Given the description of an element on the screen output the (x, y) to click on. 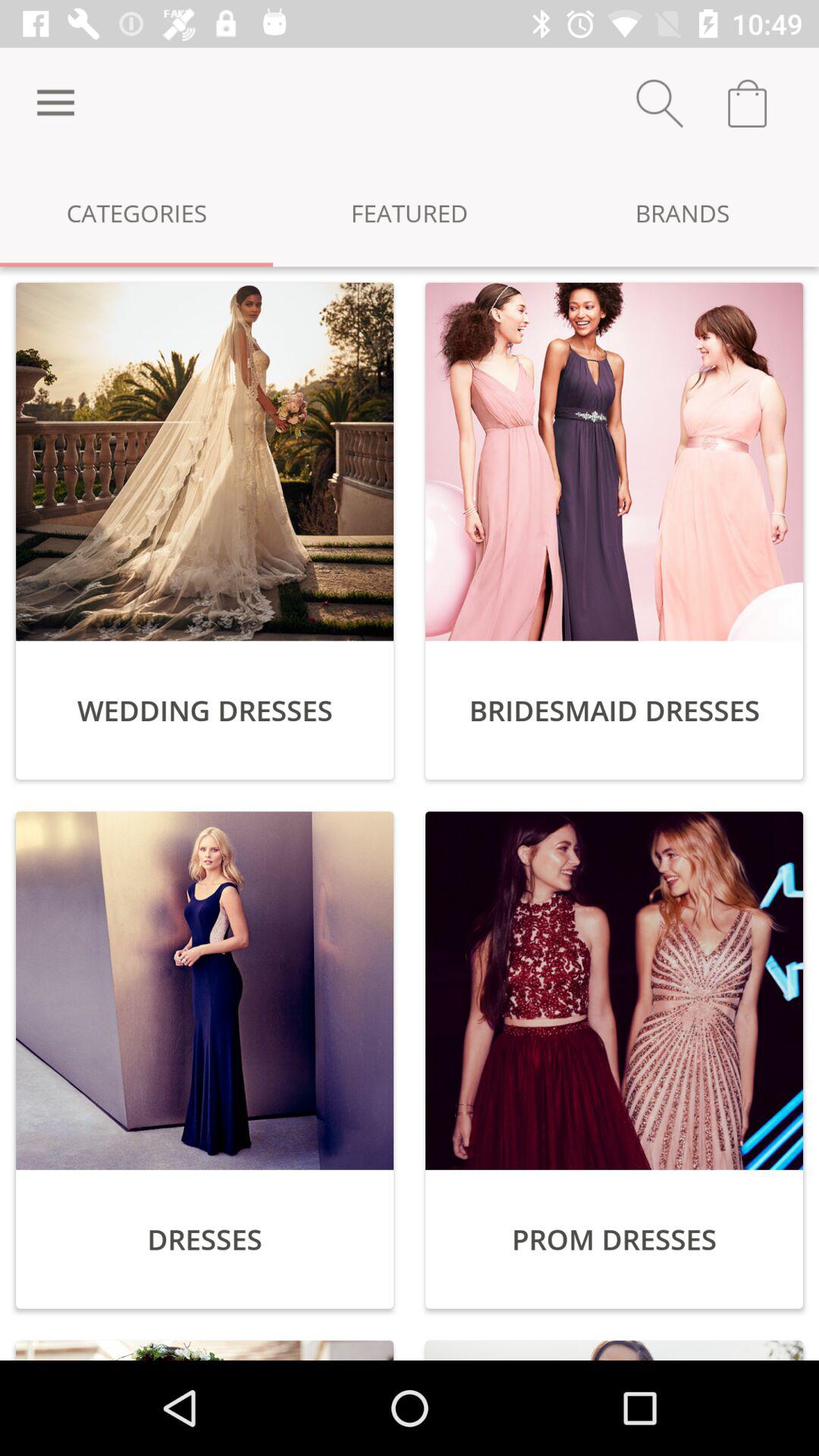
tap the item to the right of categories icon (409, 212)
